Given the description of an element on the screen output the (x, y) to click on. 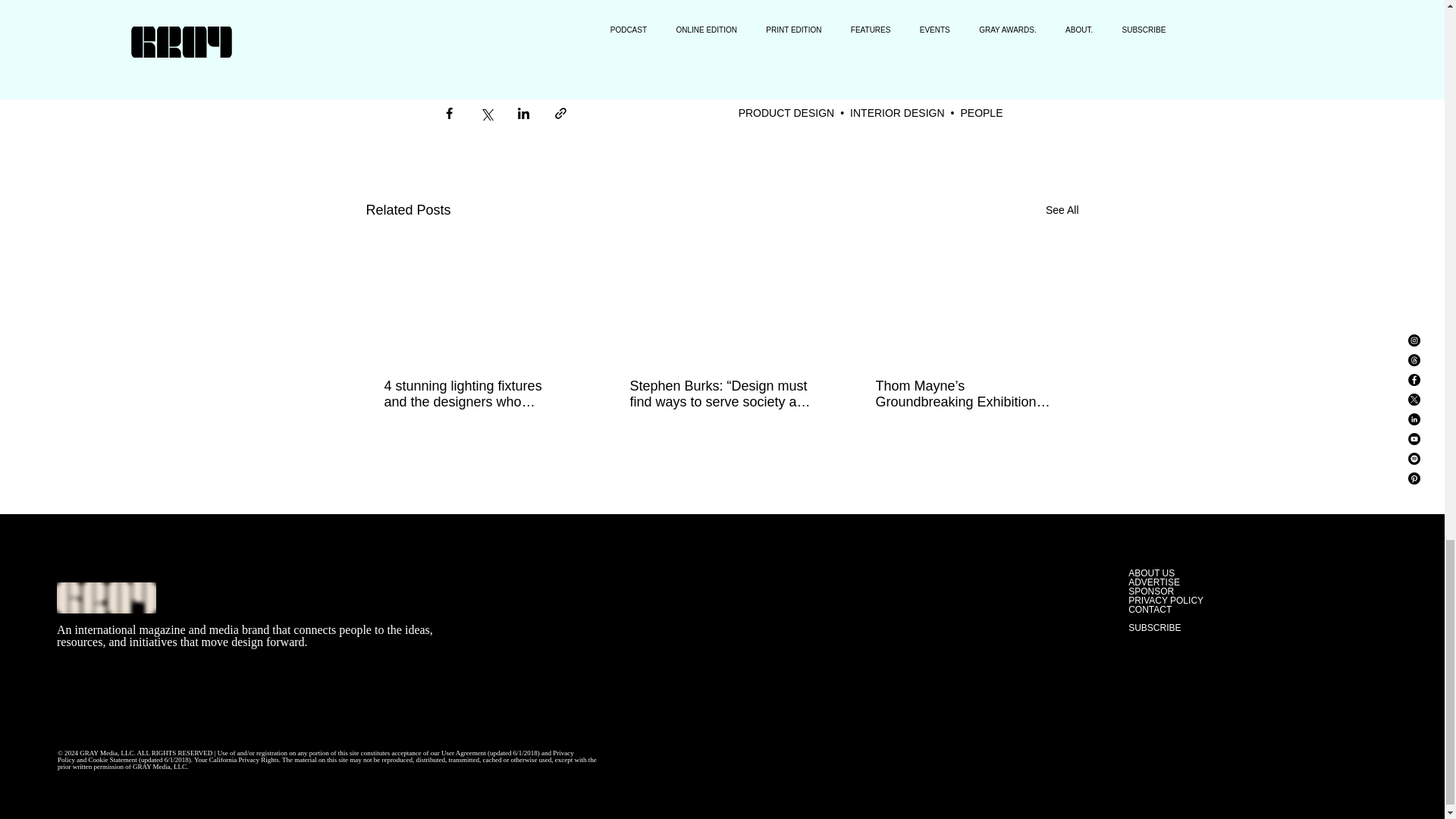
PALATTE Agency (788, 20)
